Given the description of an element on the screen output the (x, y) to click on. 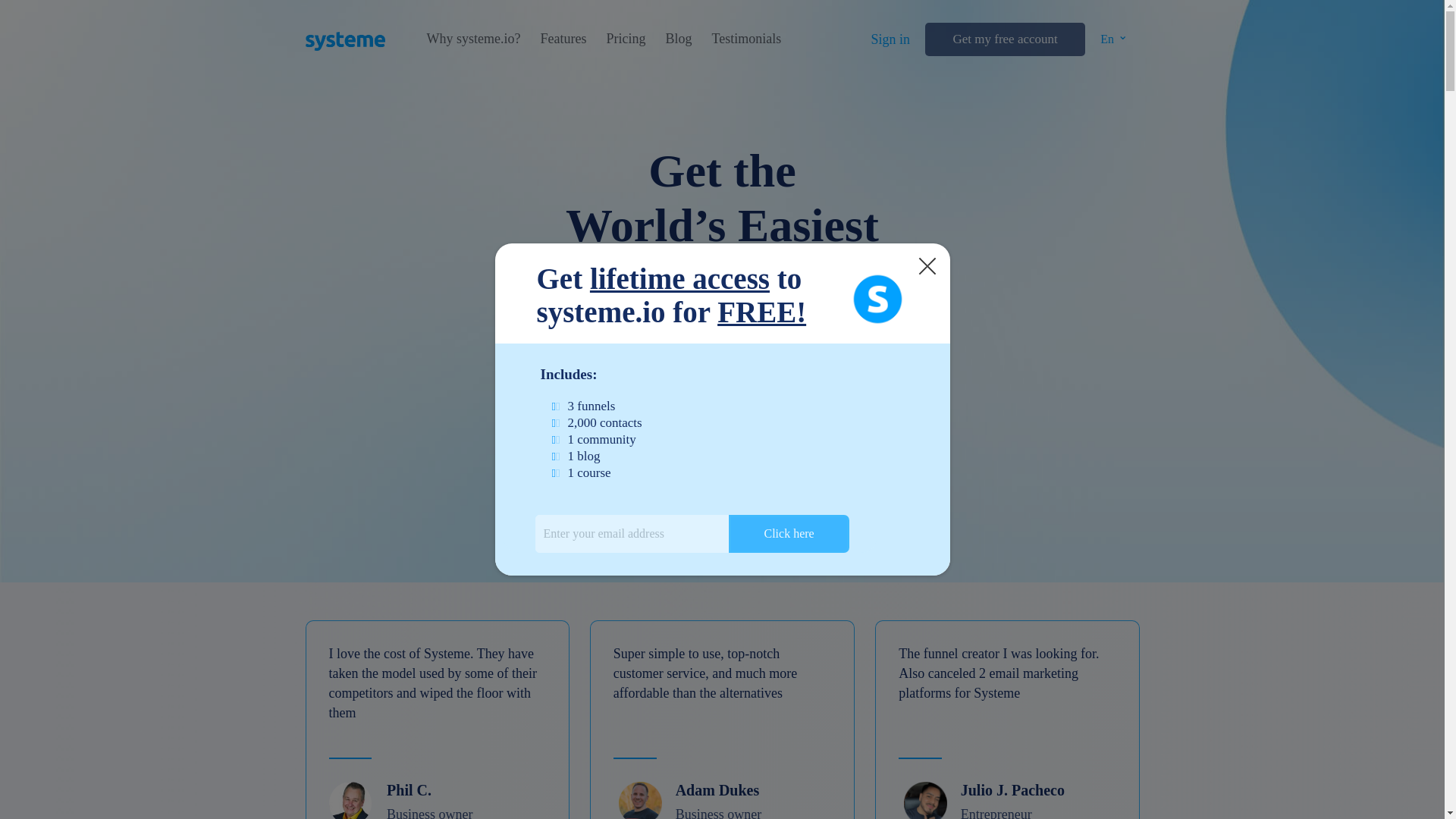
Features (563, 38)
Get my free account (1004, 39)
Pricing (625, 38)
Testimonials (745, 38)
Blog (678, 38)
Why systeme.io? (472, 38)
Sign in (890, 39)
